Given the description of an element on the screen output the (x, y) to click on. 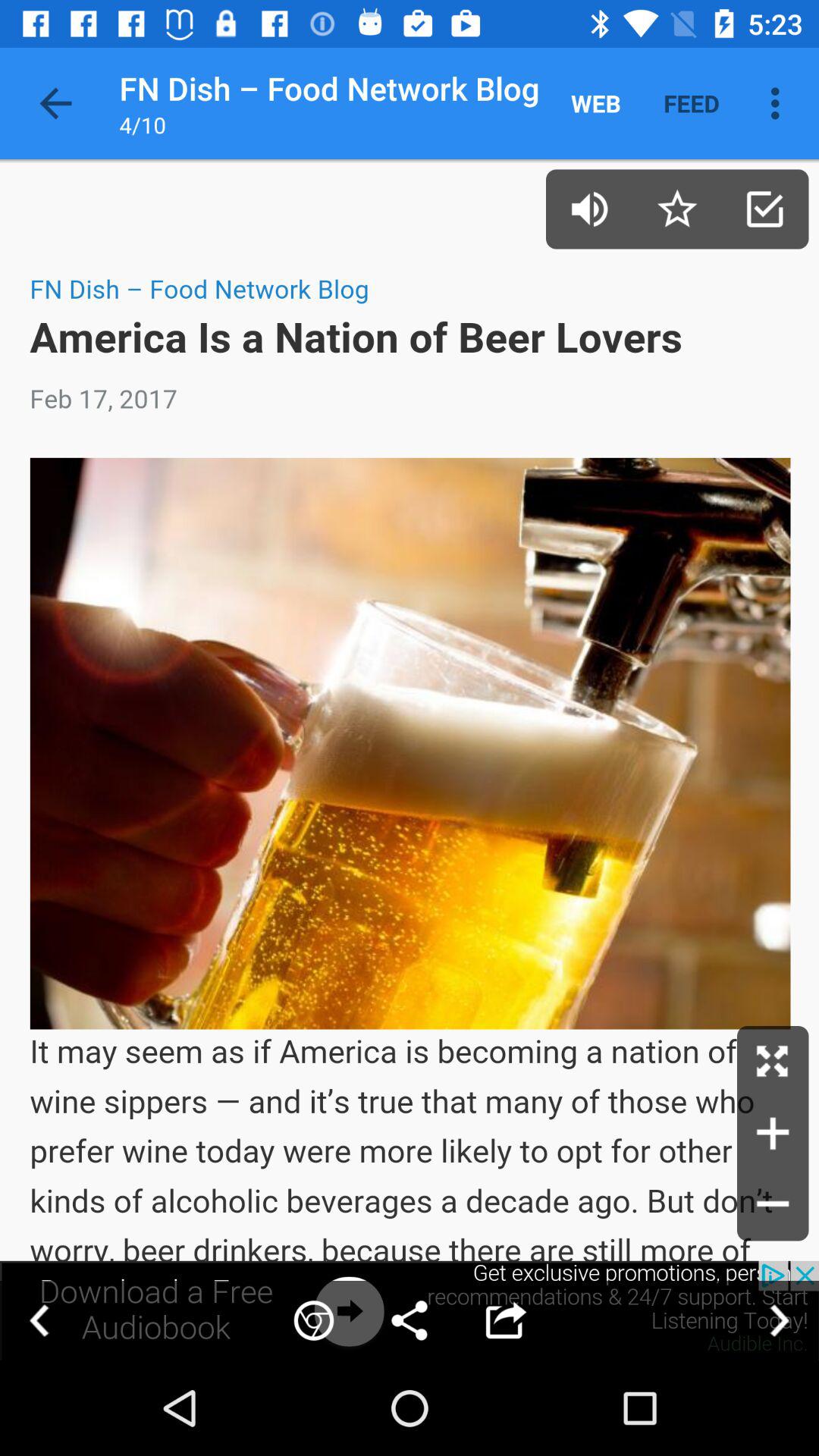
go previous (39, 1320)
